Given the description of an element on the screen output the (x, y) to click on. 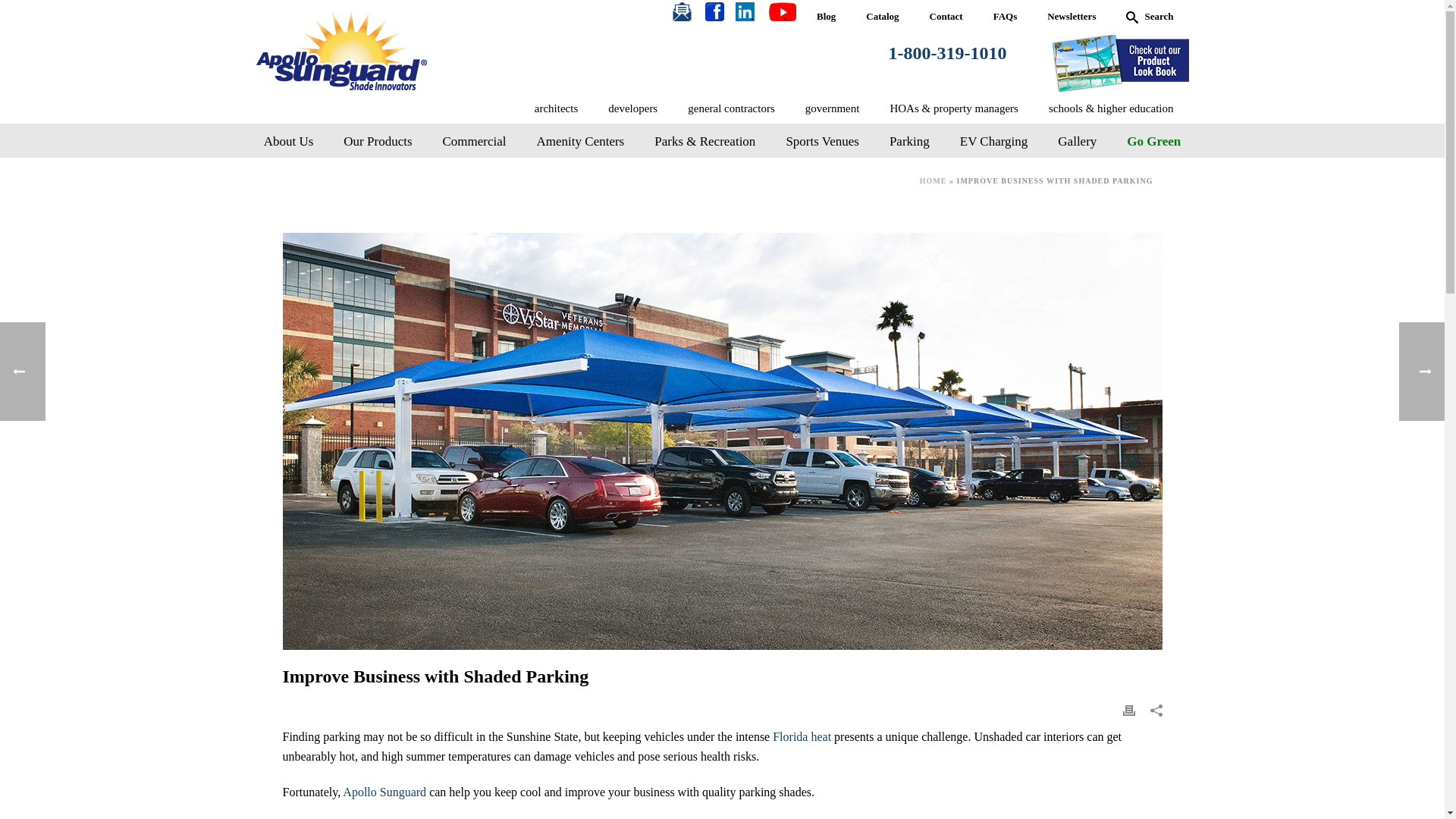
architects (555, 108)
1-800-319-1010 (947, 53)
Our Products (377, 142)
Blog (826, 16)
1-800-319-1010 (947, 53)
. (719, 17)
Go Green (1153, 142)
. (688, 16)
About Us (288, 142)
Catalog (882, 16)
